Given the description of an element on the screen output the (x, y) to click on. 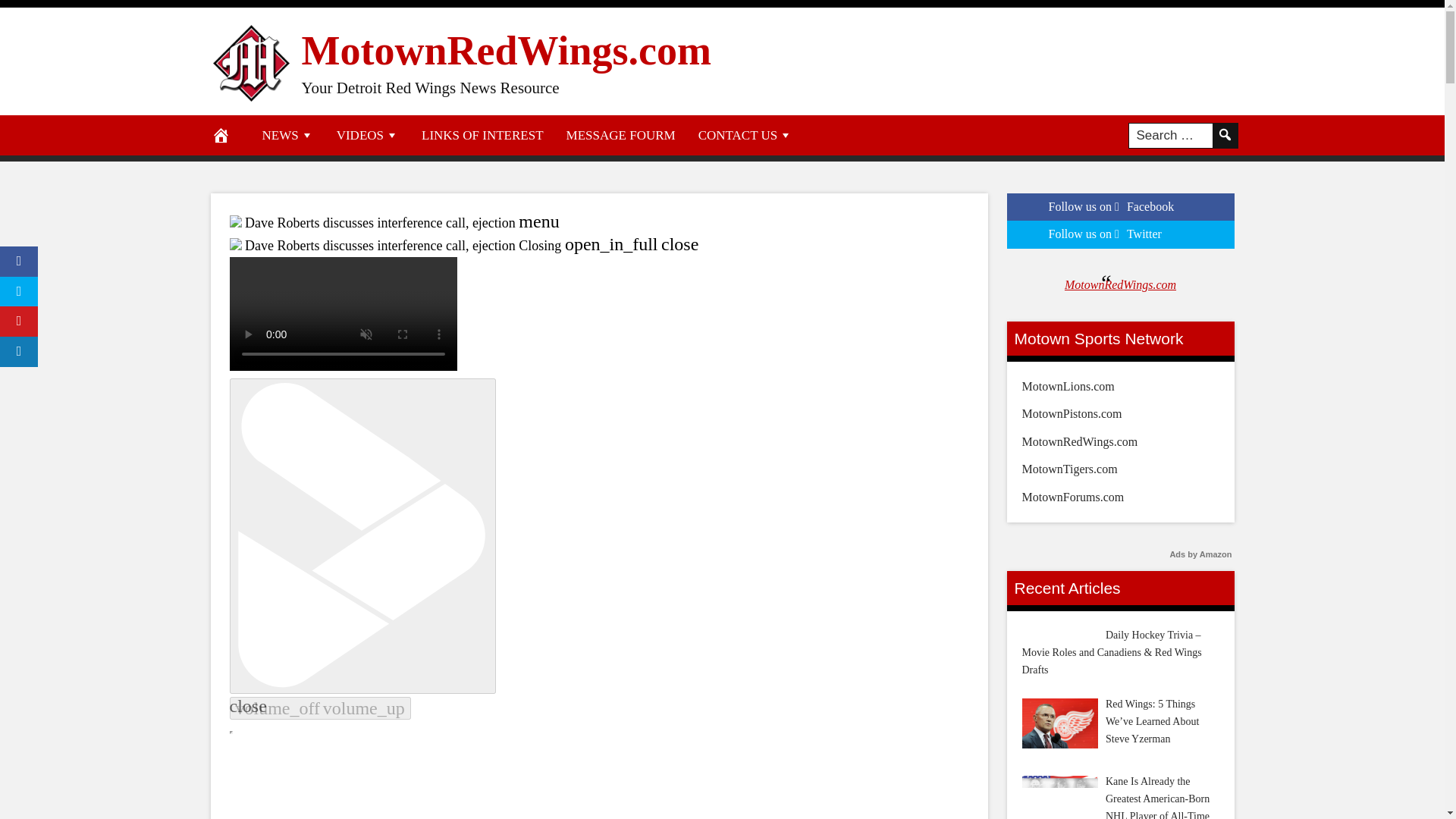
NEWS (287, 135)
MotownRedWings.com (506, 50)
VIDEOS (367, 135)
